Given the description of an element on the screen output the (x, y) to click on. 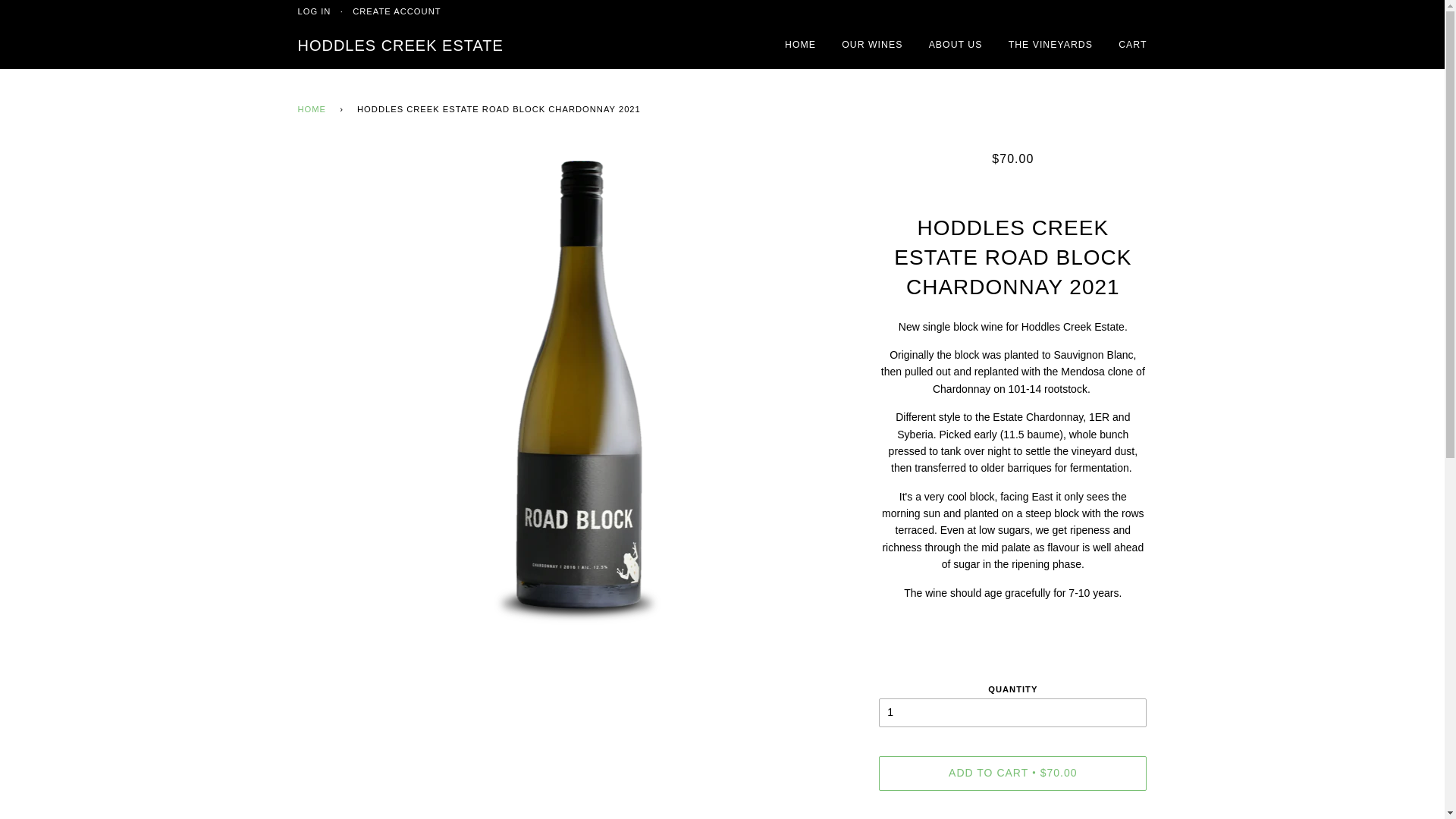
HODDLES CREEK ESTATE Element type: text (399, 45)
CART Element type: text (1132, 45)
ABOUT US Element type: text (955, 45)
THE VINEYARDS Element type: text (1050, 45)
OUR WINES Element type: text (871, 45)
HOME Element type: text (799, 45)
LOG IN Element type: text (313, 10)
HOME Element type: text (314, 109)
CREATE ACCOUNT Element type: text (396, 10)
